Given the description of an element on the screen output the (x, y) to click on. 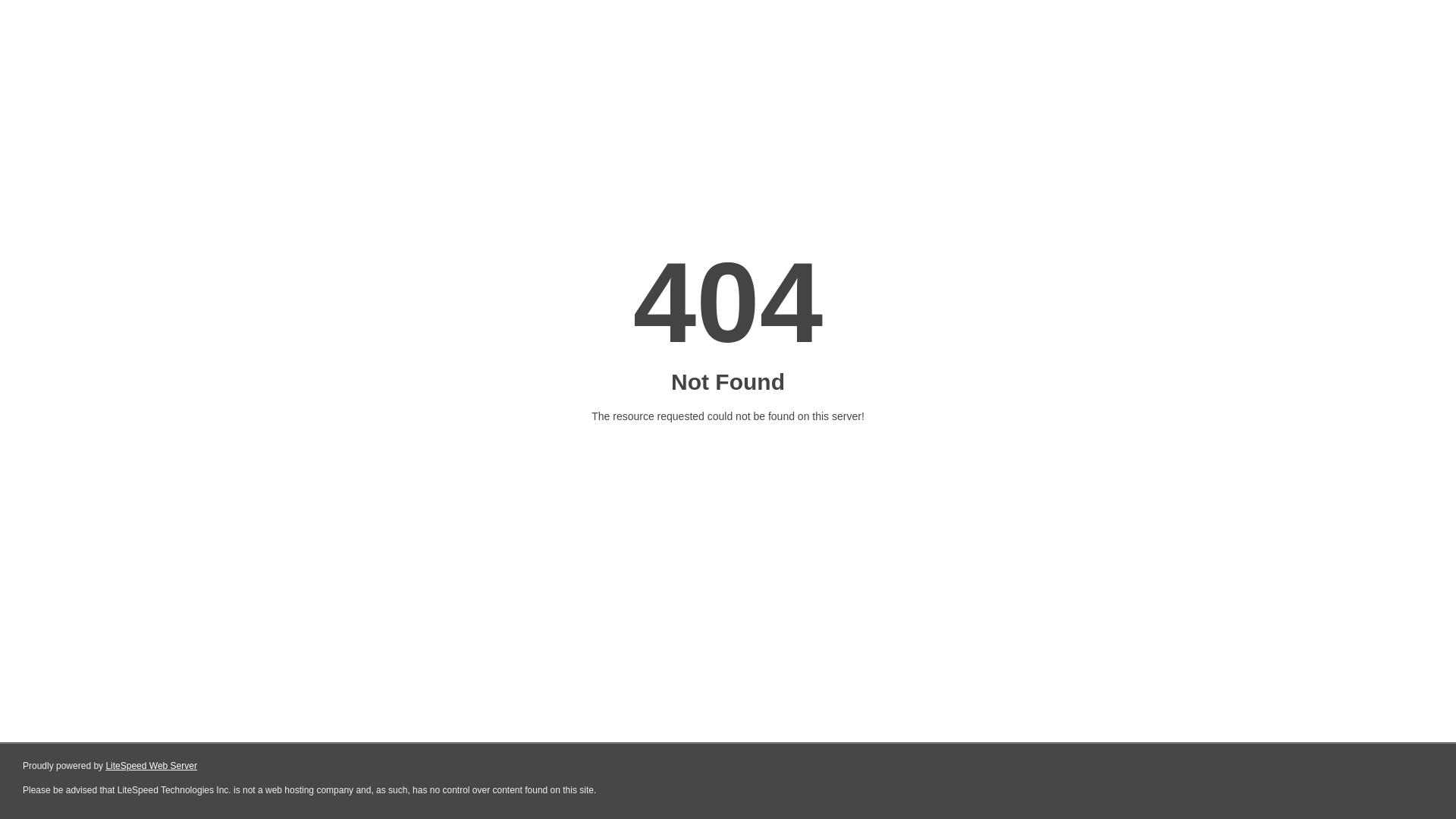
LiteSpeed Web Server (150, 765)
